Given the description of an element on the screen output the (x, y) to click on. 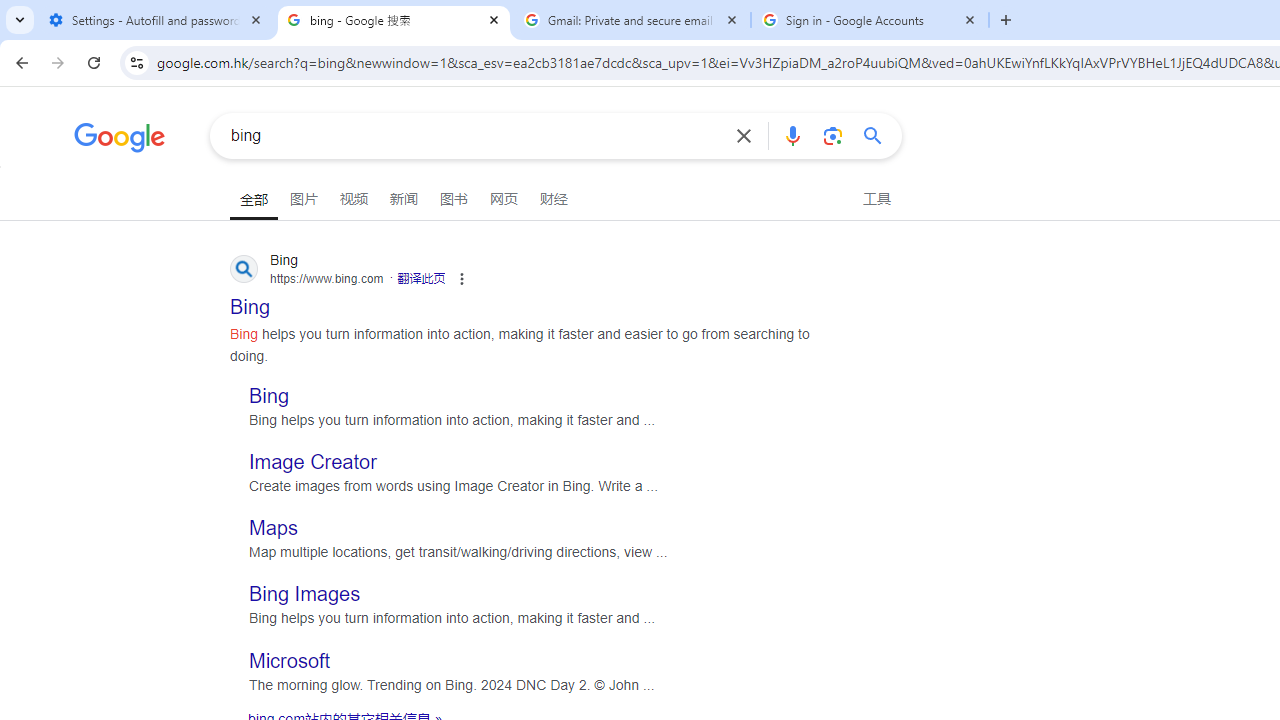
Bing (269, 394)
